Given the description of an element on the screen output the (x, y) to click on. 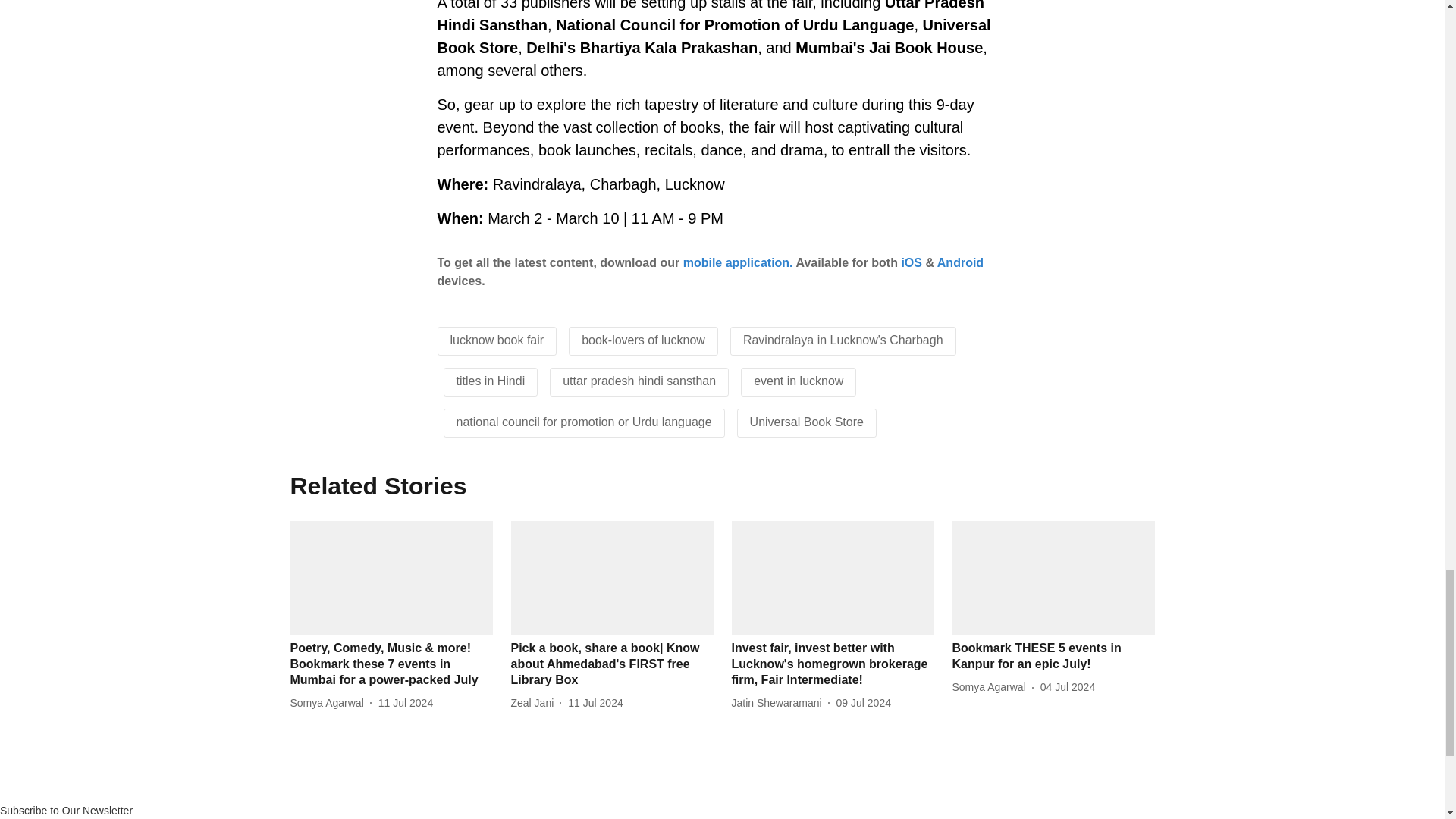
2024-07-11 10:49 (405, 703)
2024-07-04 13:36 (1067, 687)
book-lovers of lucknow (642, 339)
iOS (911, 262)
national council for promotion or Urdu language (584, 421)
mobile application. (737, 262)
uttar pradesh hindi sansthan (639, 380)
2024-07-09 08:14 (863, 703)
event in lucknow (798, 380)
Android (960, 262)
2024-07-11 09:20 (595, 703)
Universal Book Store (806, 421)
Zeal Jani (535, 703)
titles in Hindi (491, 380)
Somya Agarwal (329, 703)
